Given the description of an element on the screen output the (x, y) to click on. 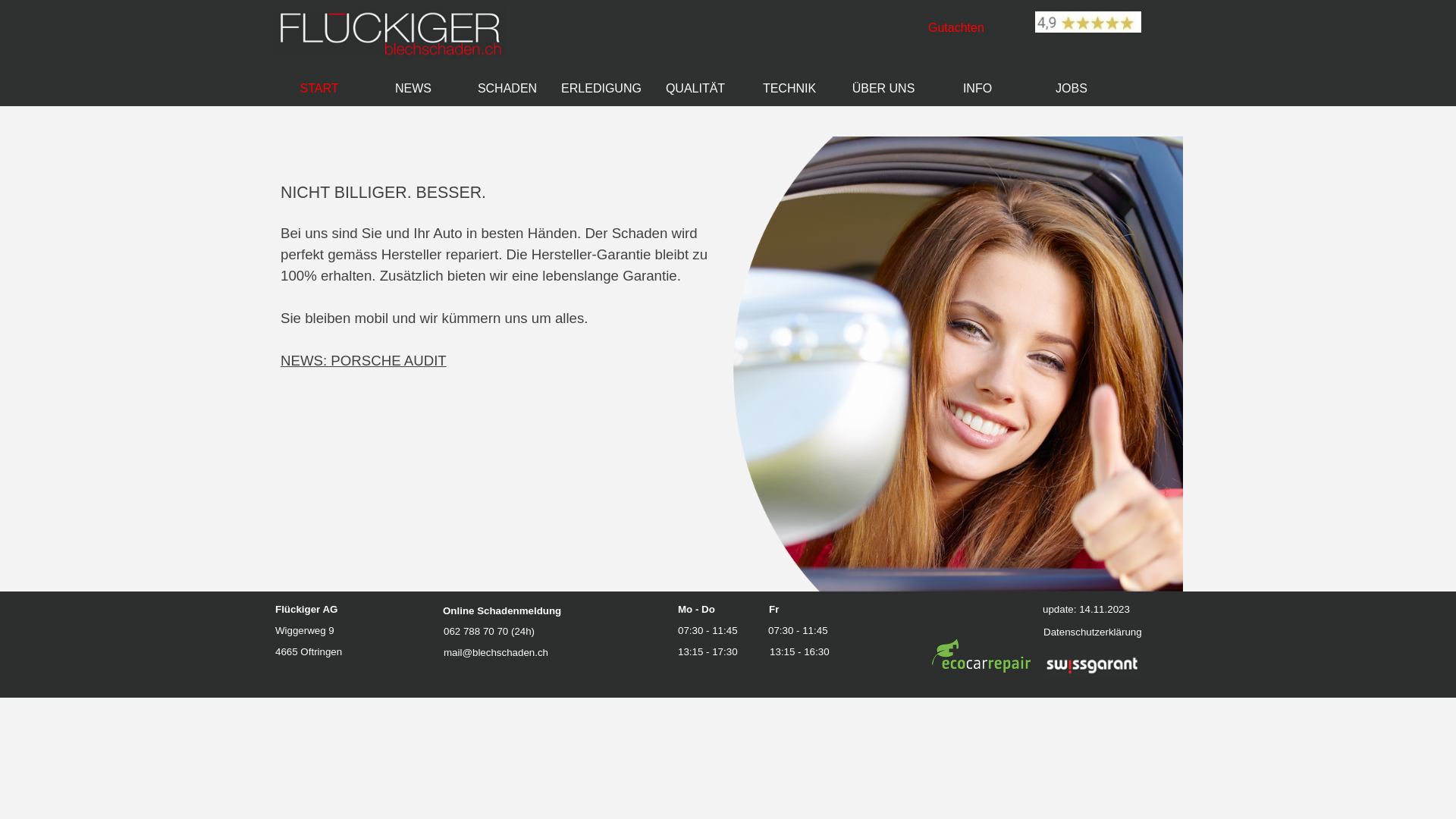
ERLEDIGUNG Element type: text (601, 87)
SCHADEN Element type: text (507, 87)
START Element type: text (319, 87)
JOBS Element type: text (1071, 87)
INFO Element type: text (977, 87)
TECHNIK Element type: text (789, 87)
Online Schadenmeldung Element type: text (501, 610)
NEWS: PORSCHE AUDIT Element type: text (363, 360)
mail@blechschaden.ch Element type: text (495, 652)
NEWS Element type: text (413, 87)
Gutachten Element type: text (956, 27)
